Given the description of an element on the screen output the (x, y) to click on. 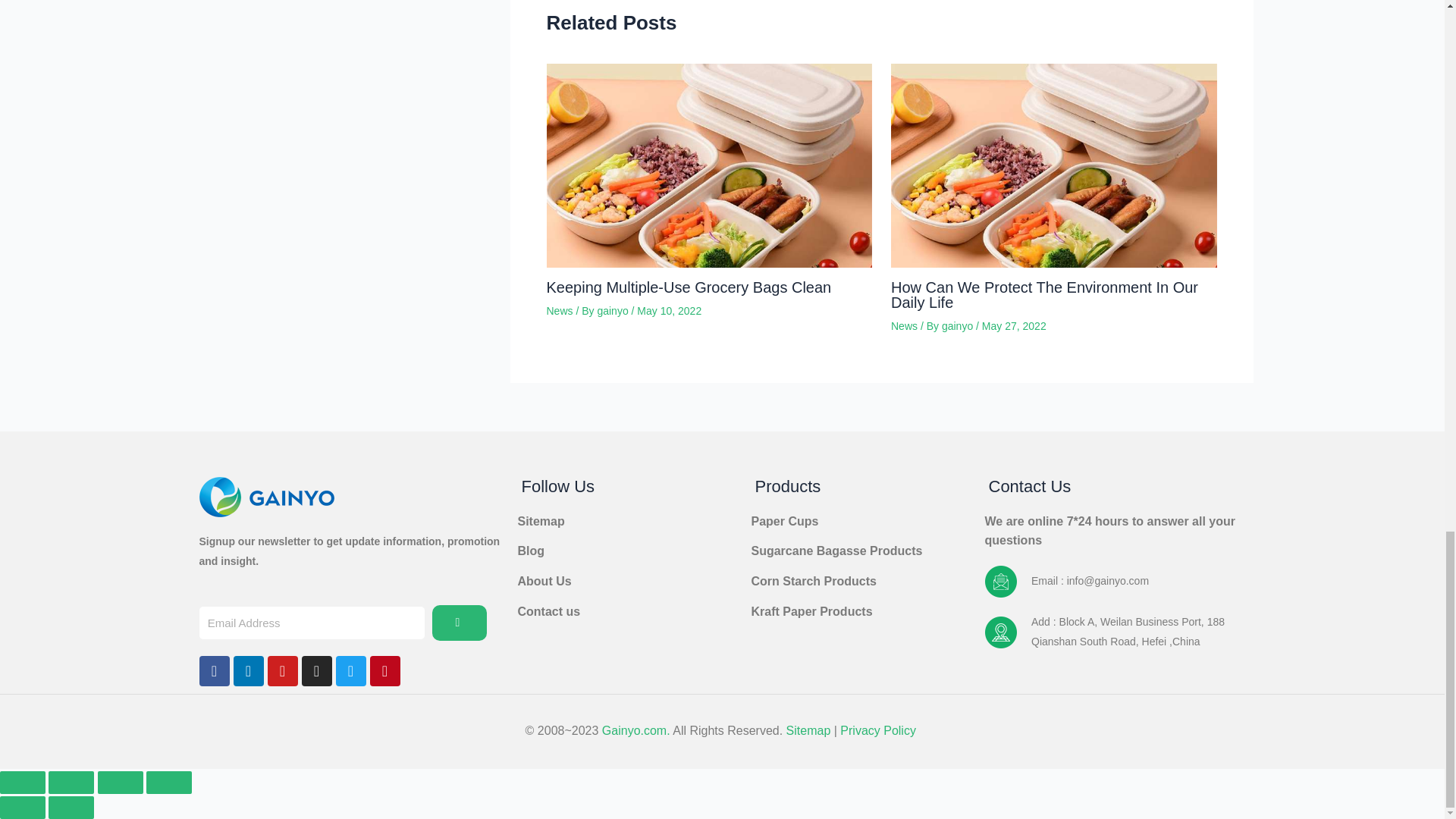
View all posts by gainyo (958, 326)
View all posts by gainyo (613, 310)
